Given the description of an element on the screen output the (x, y) to click on. 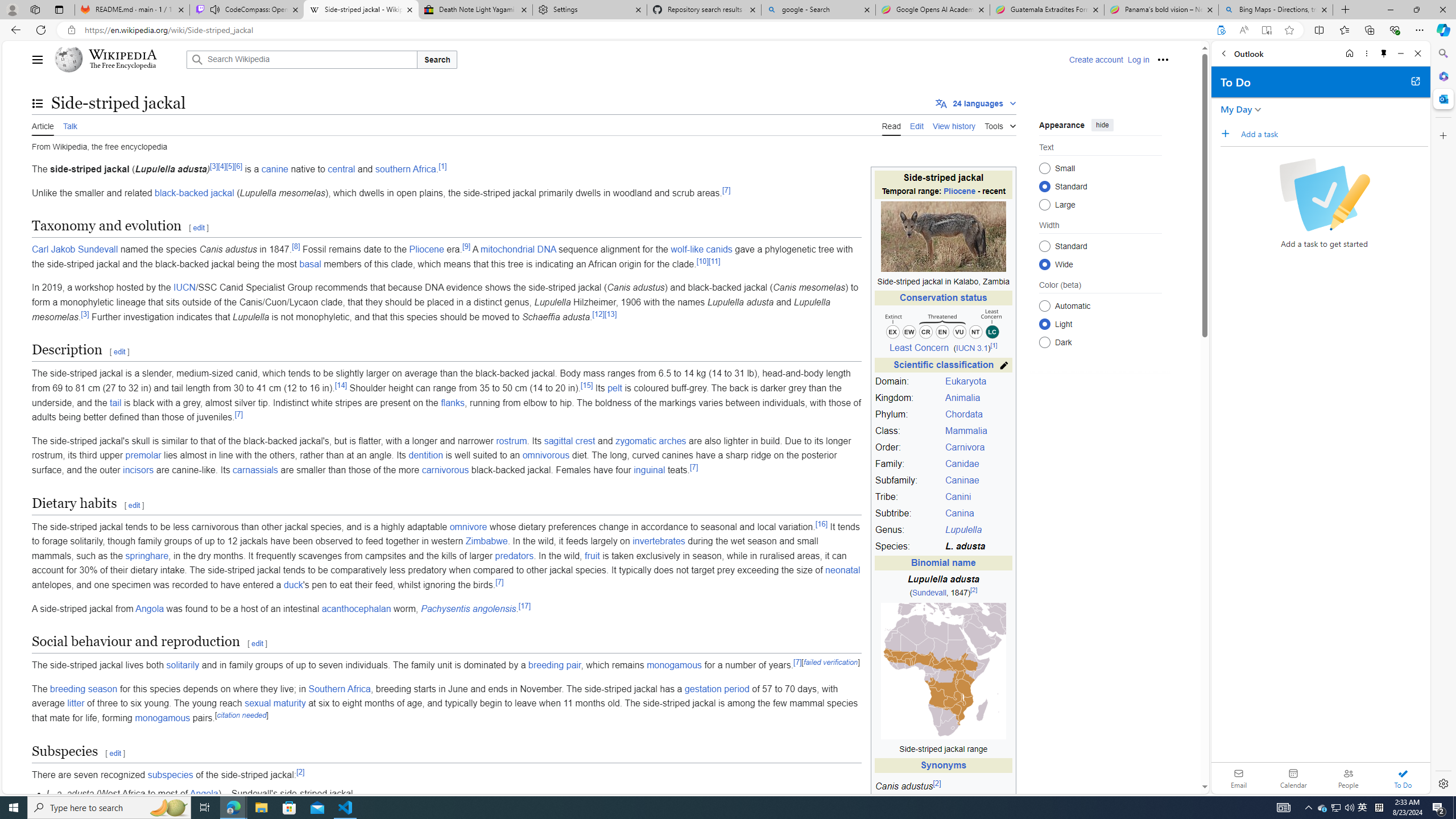
View history (954, 124)
Domain: (908, 381)
Tools (1000, 124)
omnivore (468, 526)
Scientific classification (943, 365)
Order: (908, 447)
IUCN 3.1 (971, 347)
Kingdom: (908, 398)
rostrum (511, 440)
Subtribe: (908, 513)
Talk (69, 124)
Wikipedia The Free Encyclopedia (117, 59)
